Given the description of an element on the screen output the (x, y) to click on. 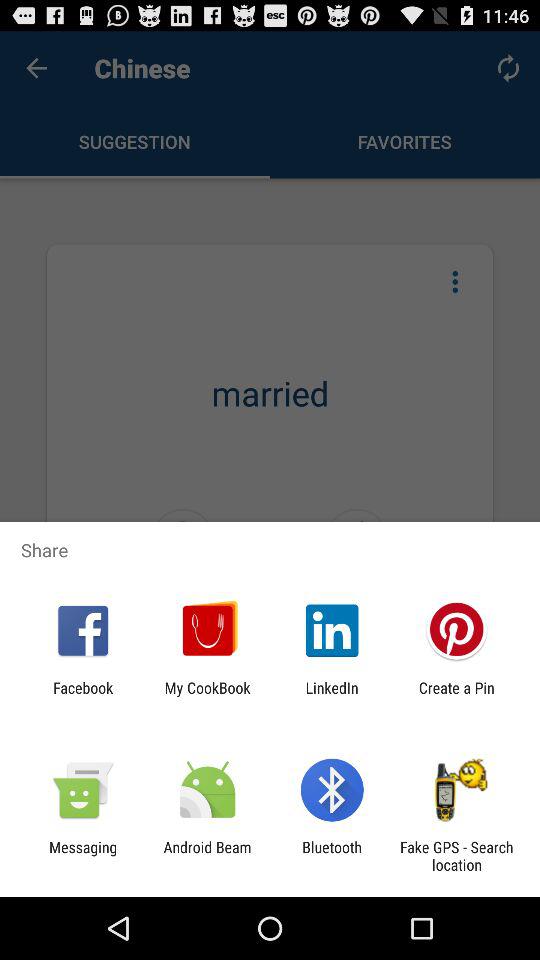
scroll until the linkedin item (331, 696)
